Given the description of an element on the screen output the (x, y) to click on. 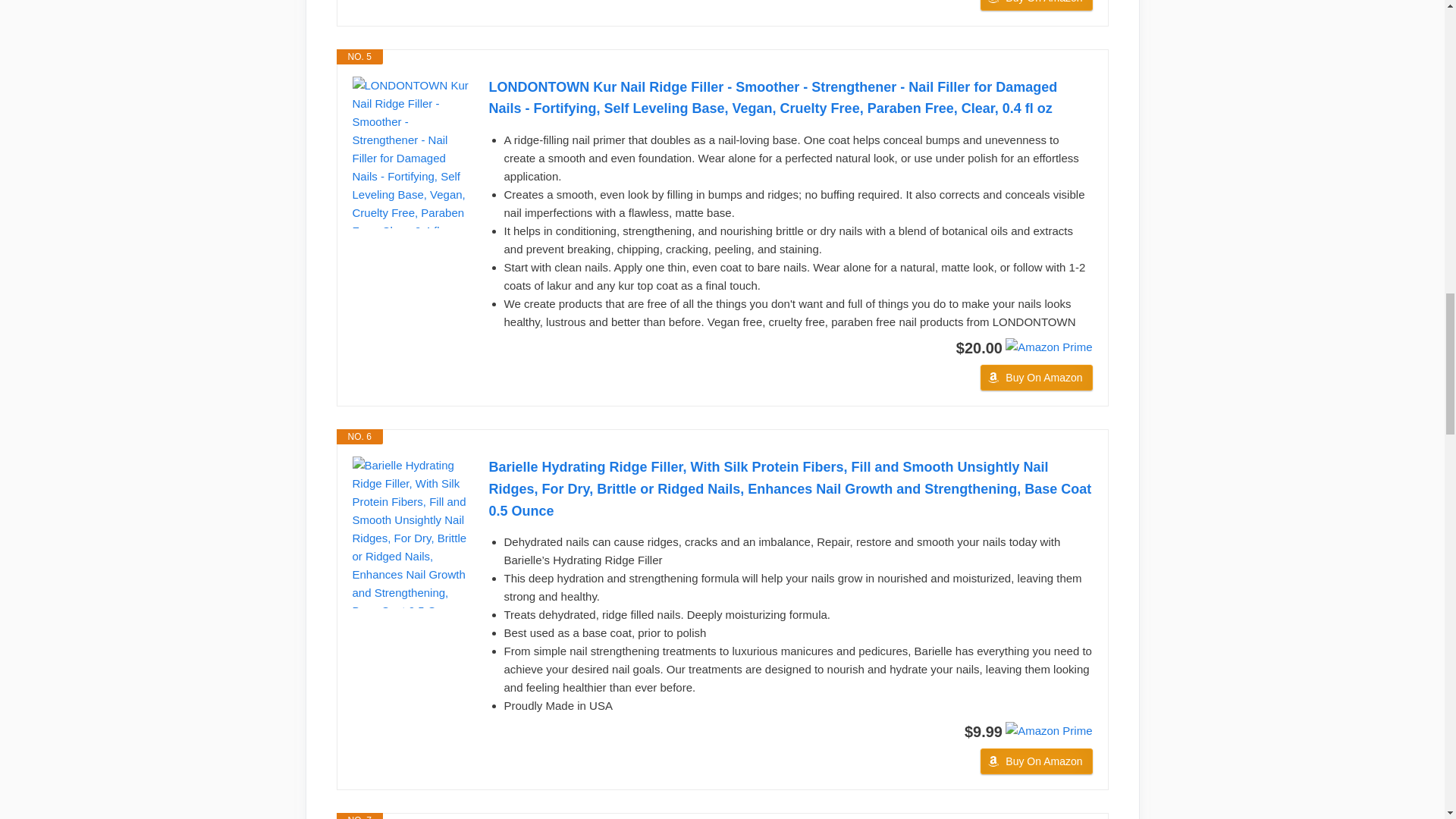
Buy On Amazon (1035, 377)
Buy On Amazon (1035, 5)
Buy On Amazon (1035, 760)
